Given the description of an element on the screen output the (x, y) to click on. 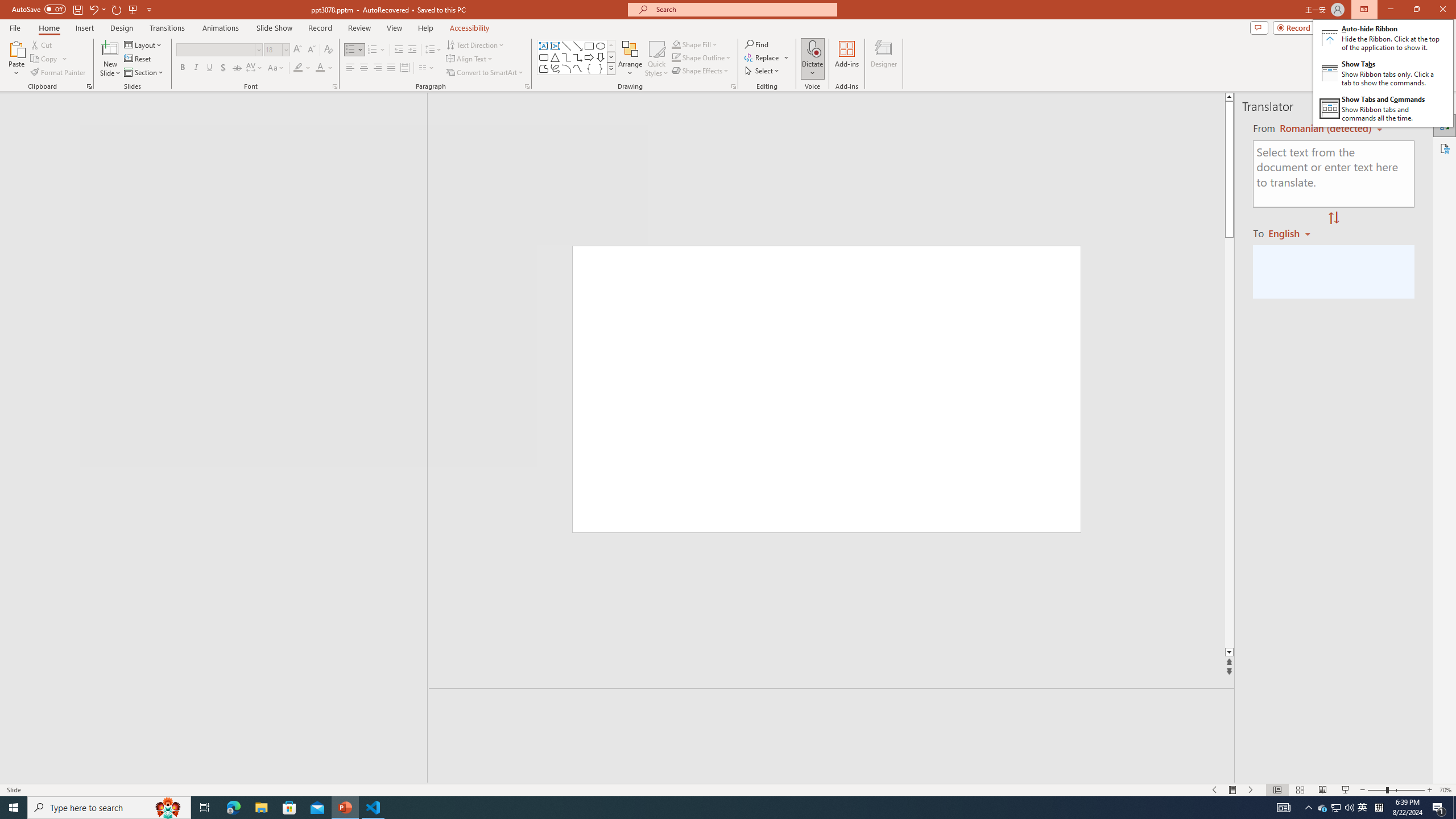
Zoom 70% (1445, 790)
Slide Show Next On (1250, 790)
